Given the description of an element on the screen output the (x, y) to click on. 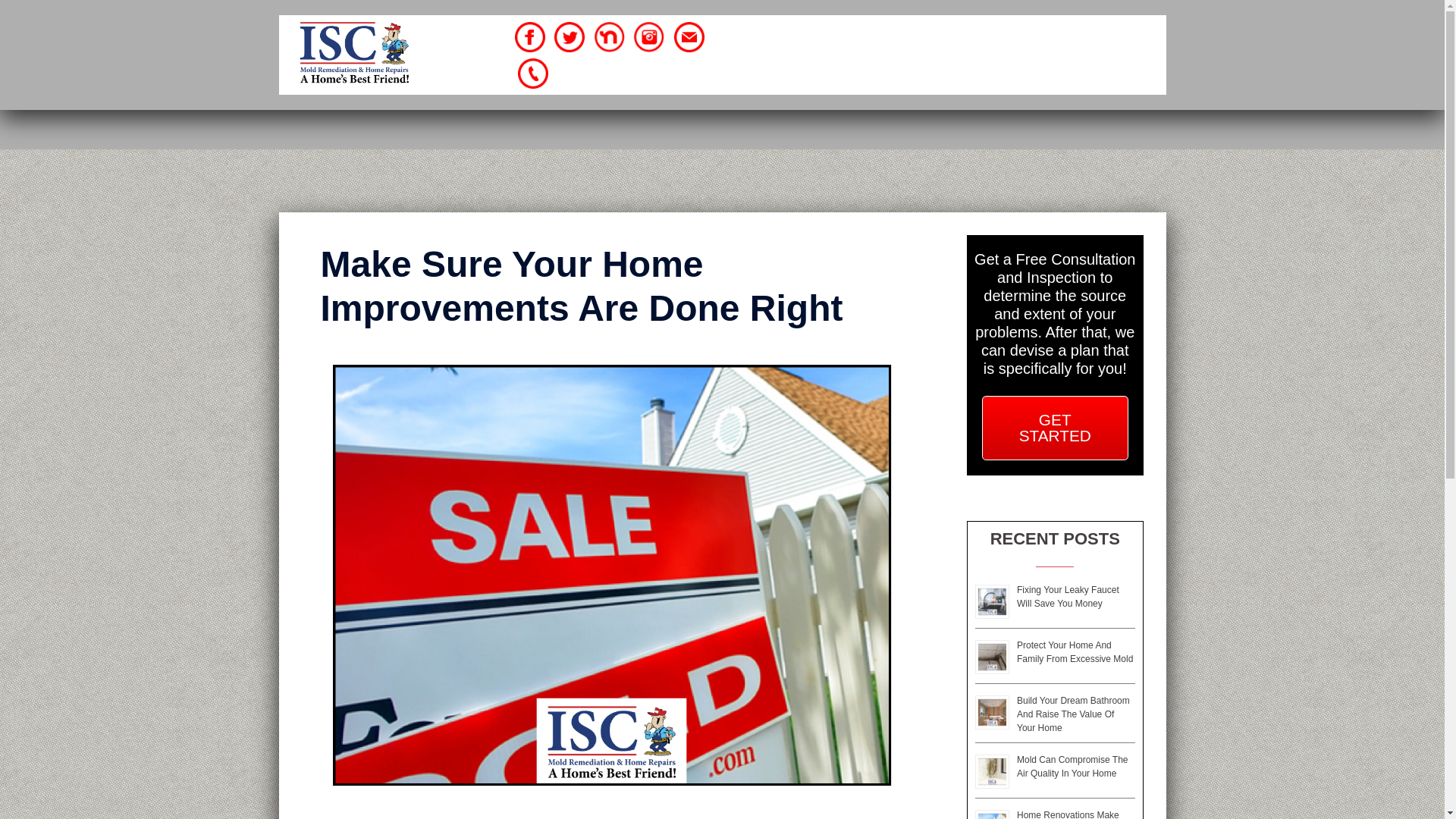
HOME SERVICES (835, 32)
JOBS (1091, 54)
BLOG (1001, 78)
ABOUT US (1080, 32)
GOT PESTS? (1010, 54)
CONTACT US (916, 78)
Fixing Your Leaky Faucet Will Save You Money (1067, 596)
GET STARTED (1054, 427)
Protect Your Home And Family From Excessive Mold (1074, 651)
REAL ESTATE SERVICES (865, 54)
MOLD REMOVAL (968, 32)
Intrastate Services (353, 53)
Mold Can Compromise The Air Quality In Your Home (1072, 766)
Build Your Dream Bathroom And Raise The Value Of Your Home (1072, 714)
